Given the description of an element on the screen output the (x, y) to click on. 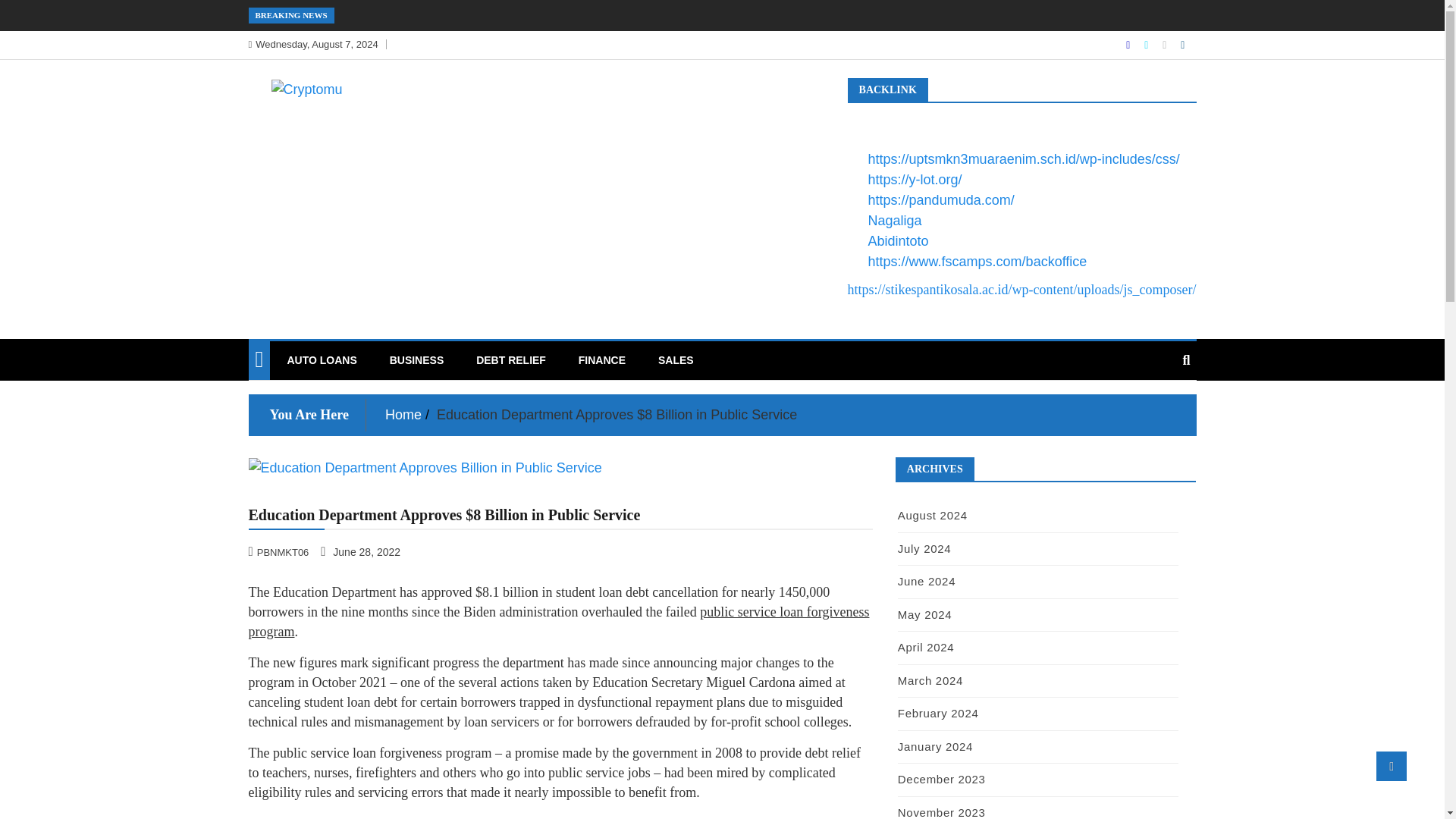
Home (403, 414)
BUSINESS (416, 360)
SALES (675, 360)
DEBT RELIEF (510, 360)
June 28, 2022 (361, 551)
FINANCE (602, 360)
Education Department Approves  Billion in Public Service (560, 467)
Cryptomu (308, 120)
AUTO LOANS (321, 360)
Nagaliga (894, 220)
PBNMKT06 (280, 551)
Abidintoto (897, 240)
